Given the description of an element on the screen output the (x, y) to click on. 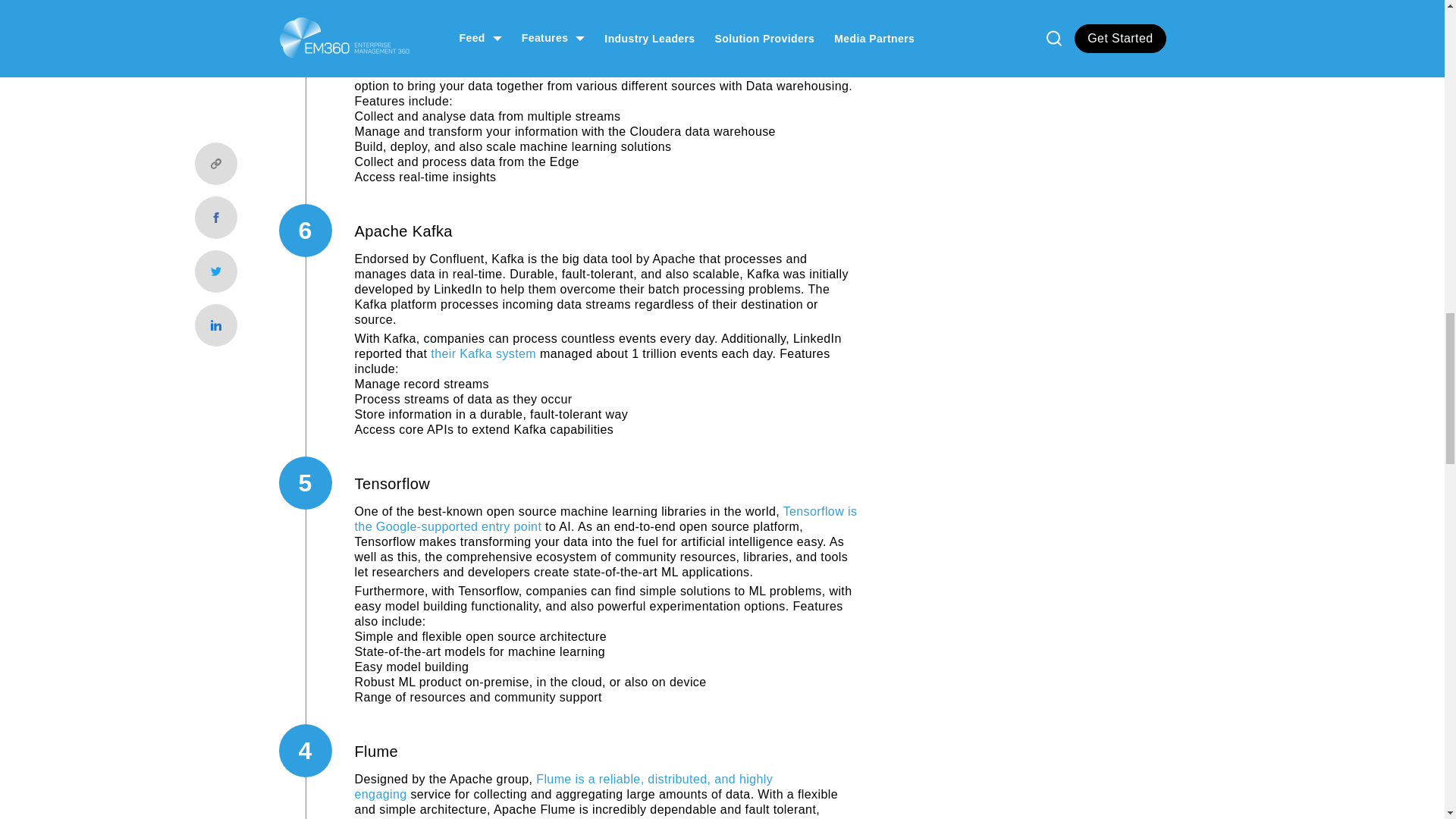
Flume is a reliable, distributed, and highly engaging (564, 786)
their Kafka system (482, 353)
Tensorflow is the Google-supported entry point (606, 519)
